Given the description of an element on the screen output the (x, y) to click on. 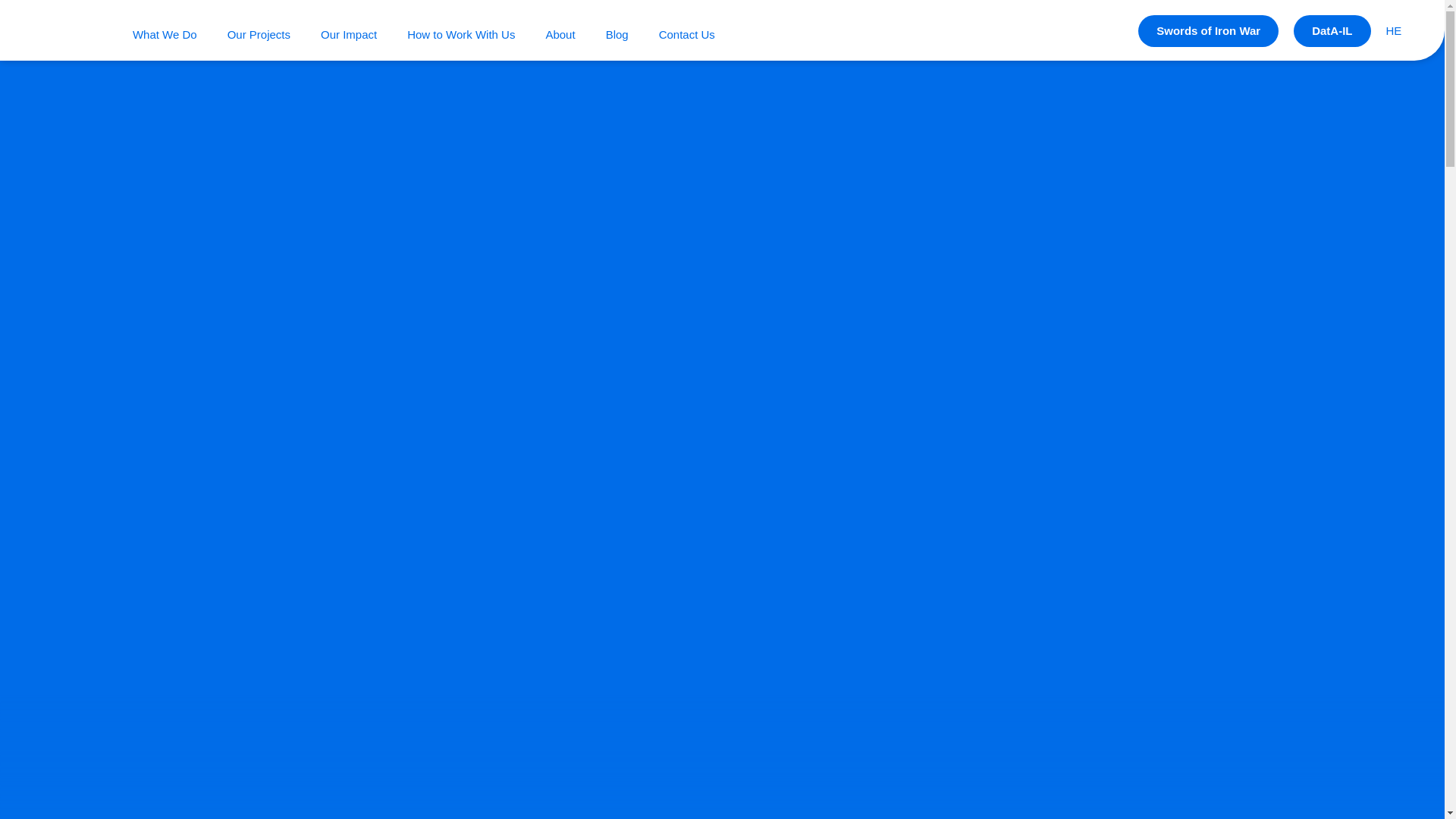
Swords of Iron War (1208, 30)
About (559, 33)
Our Impact (348, 33)
DatA-IL (1332, 30)
Our Projects (258, 33)
What We Do (164, 33)
HE (1394, 30)
Contact Us (686, 33)
How to Work With Us (461, 33)
